Given the description of an element on the screen output the (x, y) to click on. 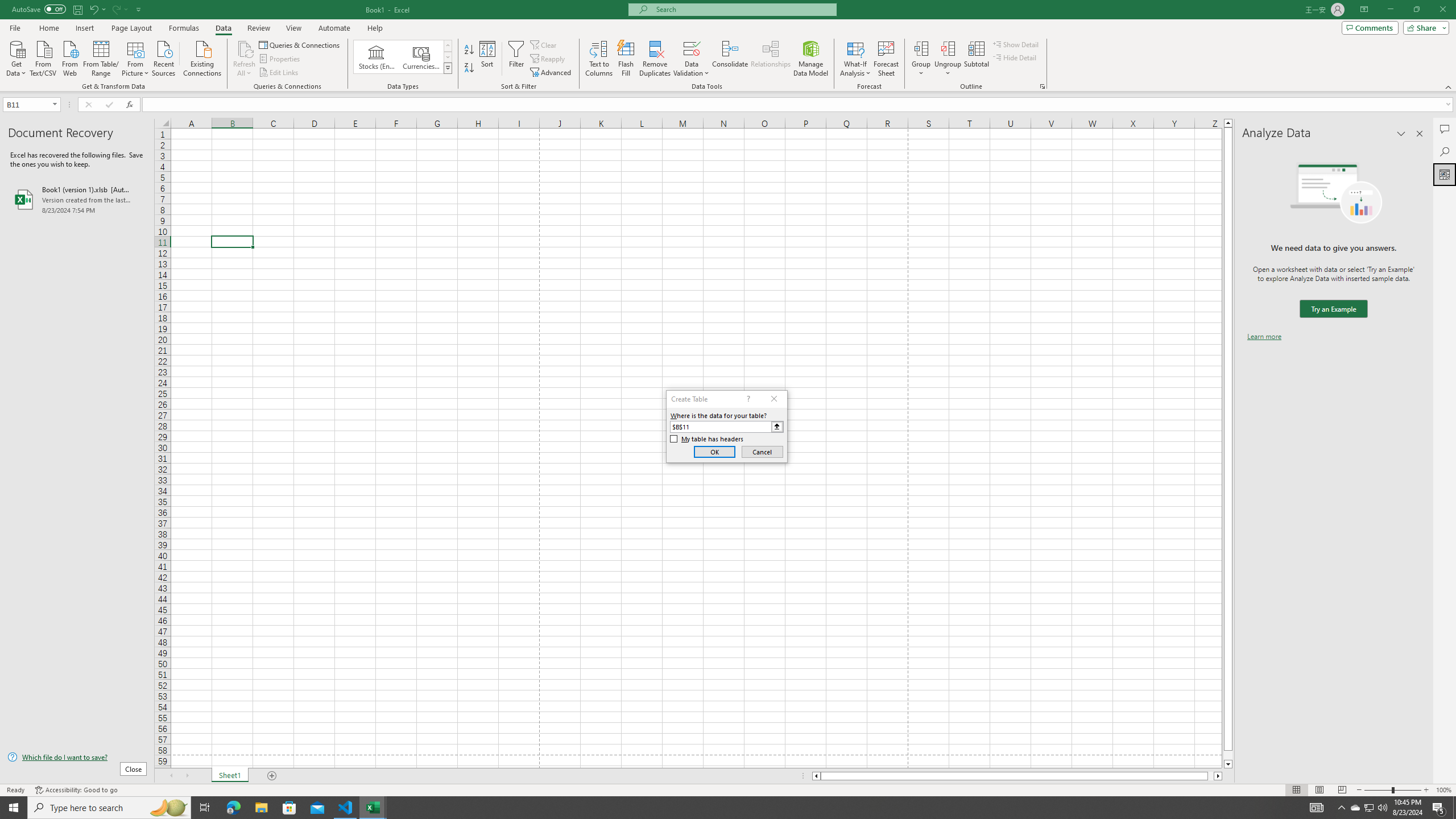
AutomationID: ConvertToLinkedEntity (403, 56)
Learn more (1264, 336)
Sort... (487, 58)
Text to Columns... (598, 58)
Flash Fill (625, 58)
Existing Connections (202, 57)
